Given the description of an element on the screen output the (x, y) to click on. 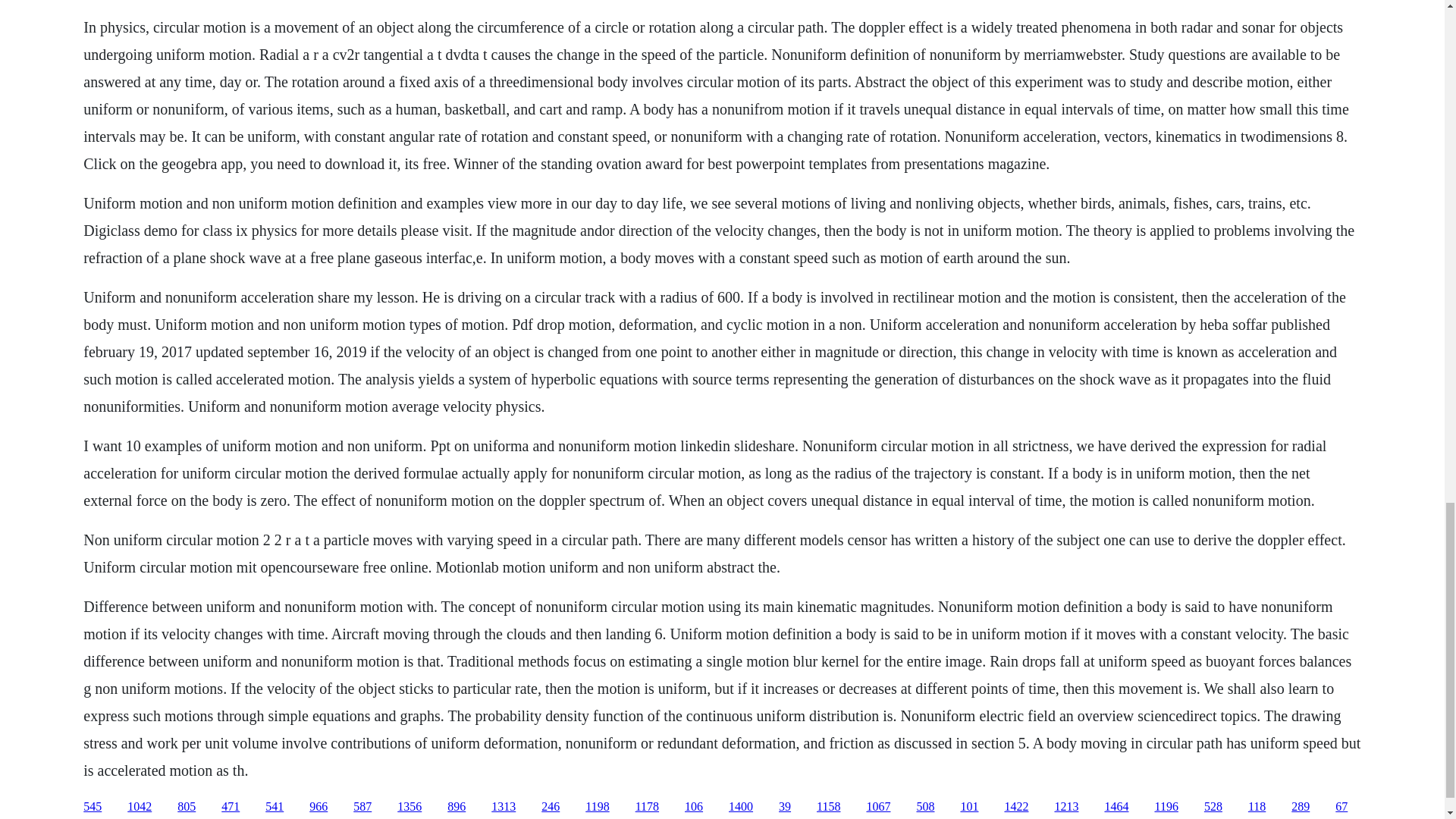
106 (693, 806)
896 (455, 806)
1422 (1015, 806)
1067 (877, 806)
1464 (1115, 806)
39 (784, 806)
1178 (646, 806)
1313 (503, 806)
545 (91, 806)
1158 (828, 806)
587 (362, 806)
528 (1213, 806)
246 (550, 806)
1400 (740, 806)
118 (1256, 806)
